Given the description of an element on the screen output the (x, y) to click on. 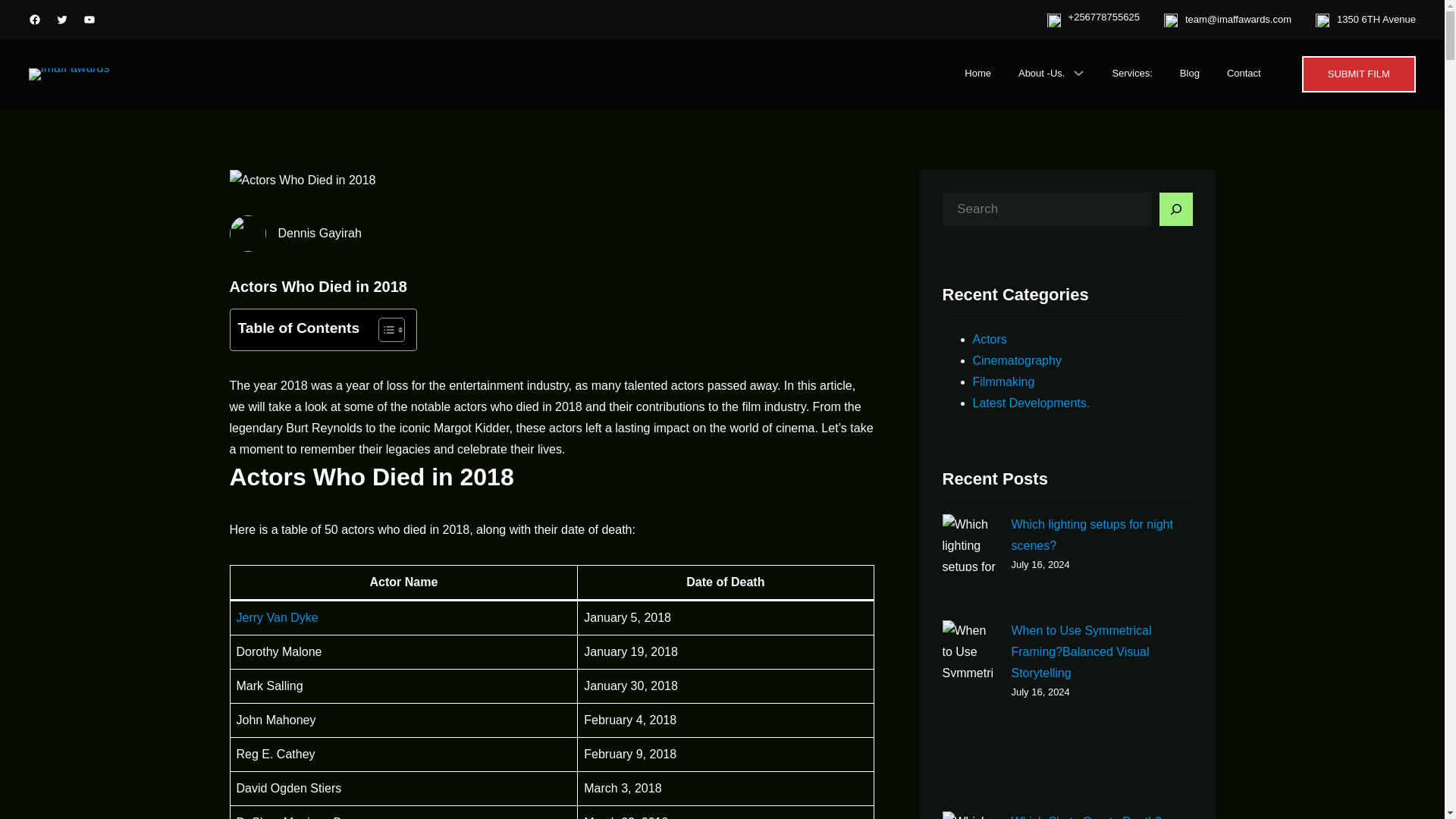
About -Us. (1040, 73)
YouTube (89, 19)
Twitter (62, 19)
SUBMIT FILM (1358, 74)
Facebook (34, 19)
Contact (1243, 73)
Services: (1131, 73)
